Given the description of an element on the screen output the (x, y) to click on. 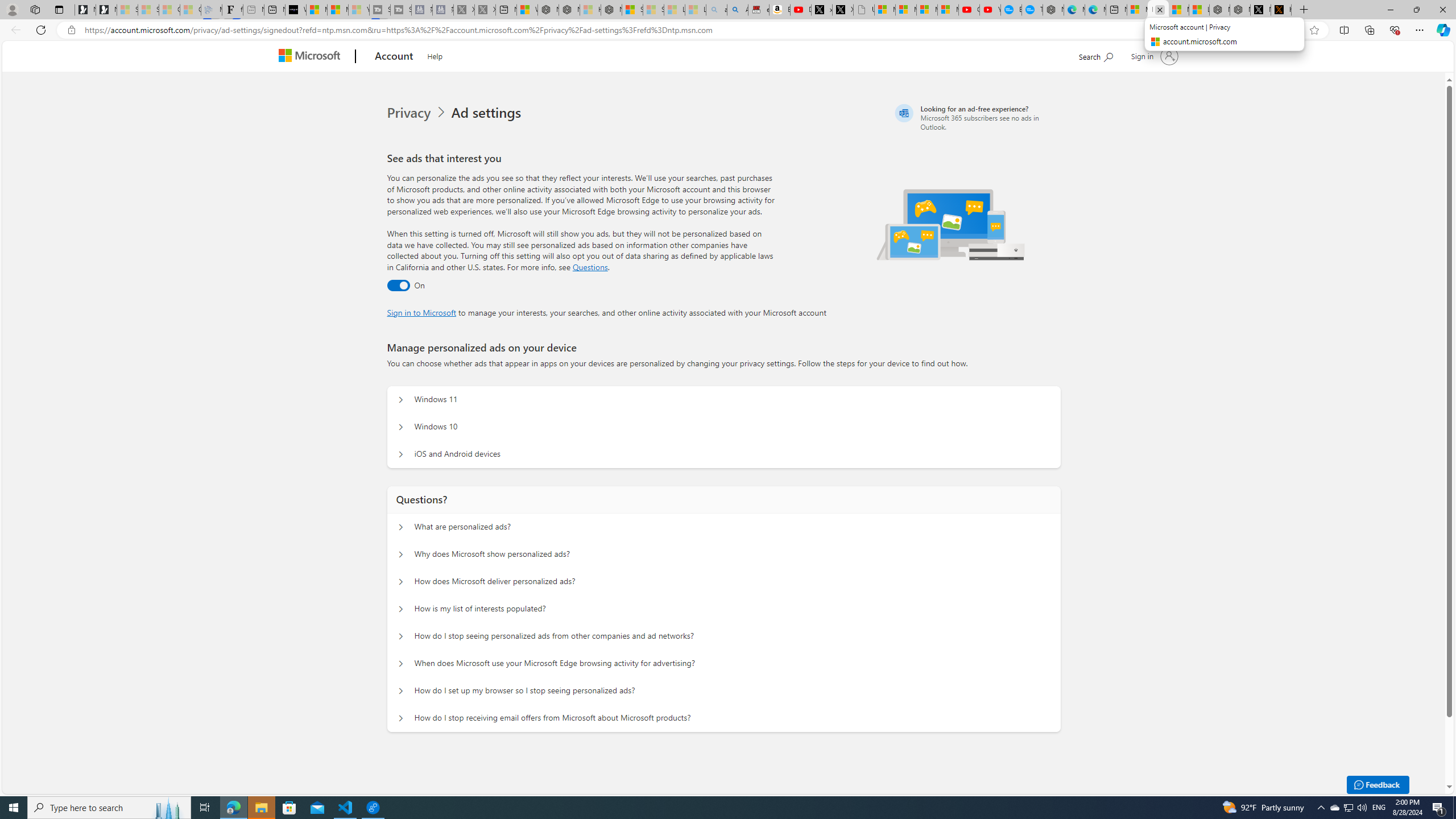
Questions? What are personalized ads? (401, 526)
Nordace (@NordaceOfficial) / X (1259, 9)
Help (434, 54)
Privacy (418, 112)
Nordace - Nordace has arrived Hong Kong (1053, 9)
Help (435, 54)
